Given the description of an element on the screen output the (x, y) to click on. 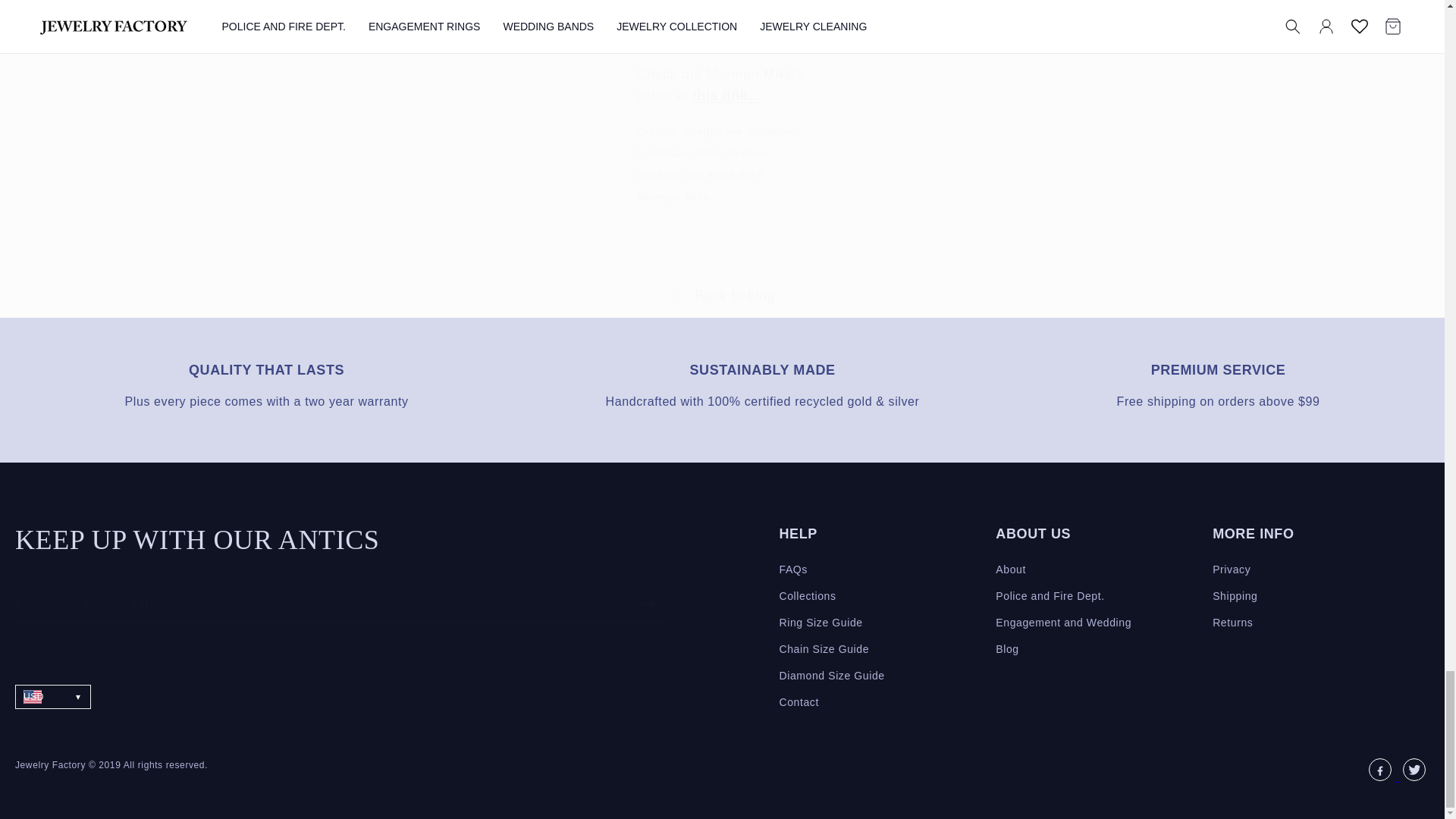
Enter Your Email Address (339, 605)
